Given the description of an element on the screen output the (x, y) to click on. 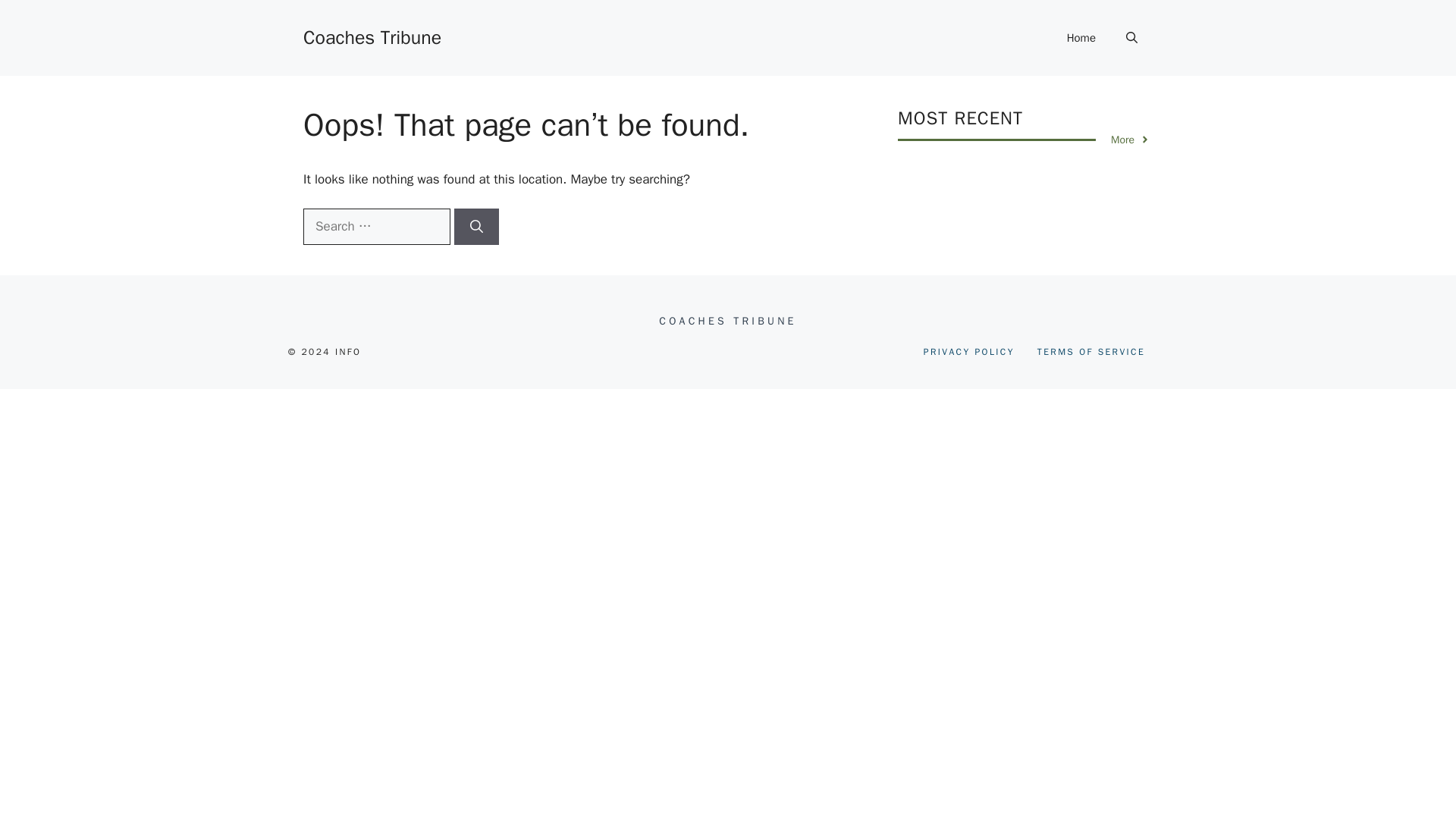
Home (1080, 37)
More (1130, 139)
PRIVACY POLICY (968, 351)
Search for: (375, 226)
TERMS OF SERVICE (1090, 351)
Coaches Tribune (371, 37)
